Given the description of an element on the screen output the (x, y) to click on. 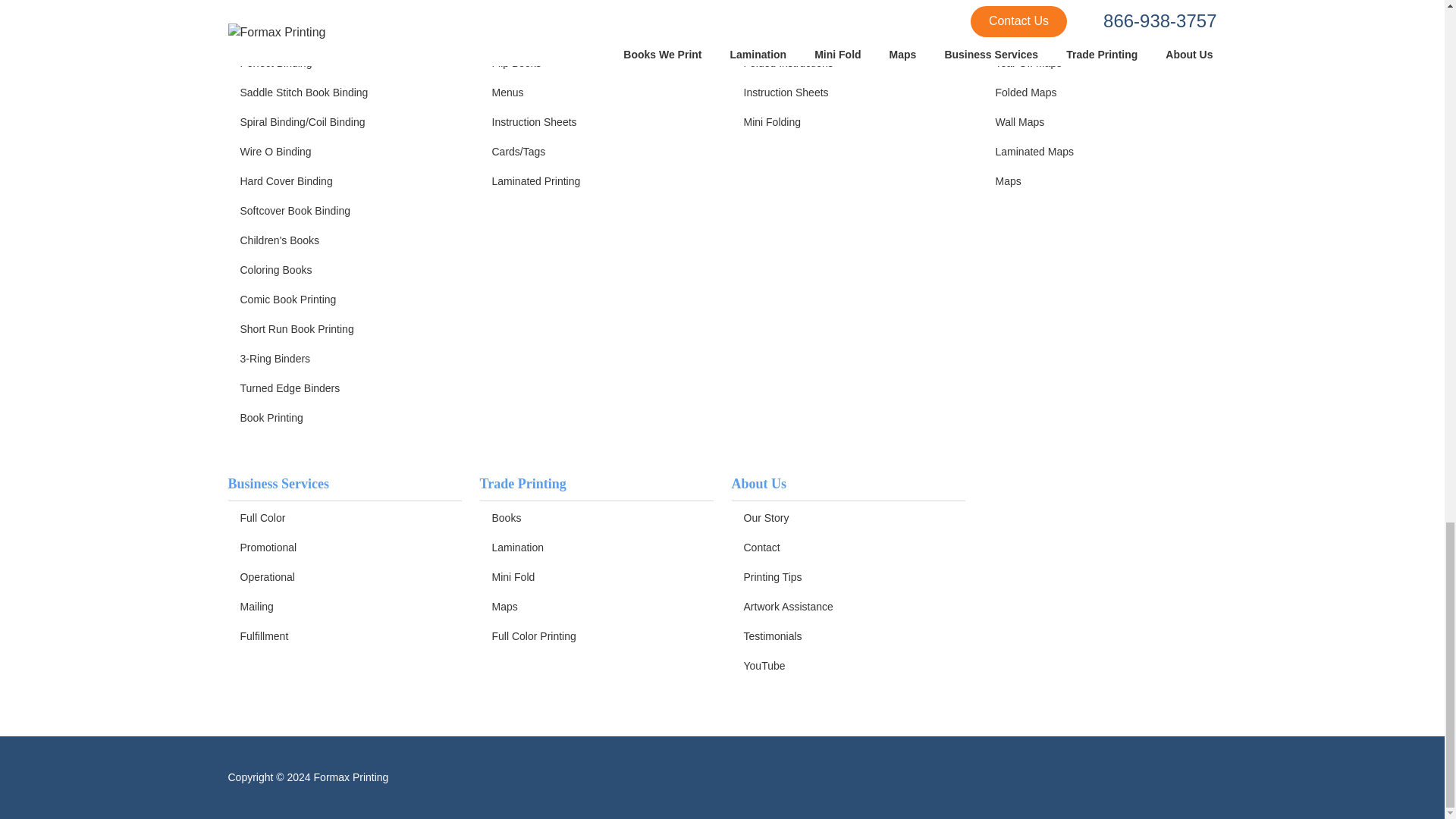
Facebook (671, 777)
Instagram (772, 777)
YouTube (738, 777)
